Given the description of an element on the screen output the (x, y) to click on. 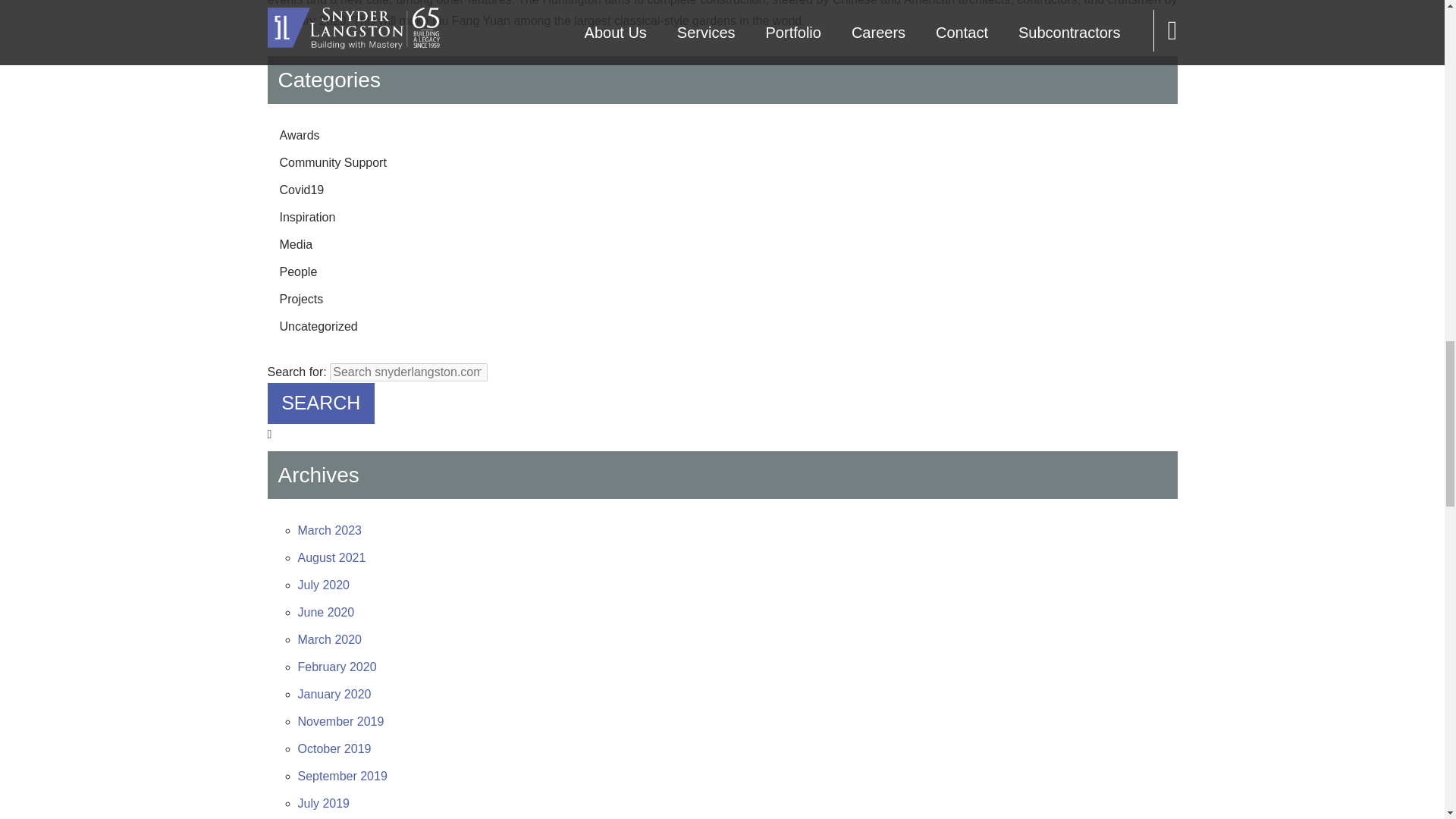
Search for: (408, 372)
